Given the description of an element on the screen output the (x, y) to click on. 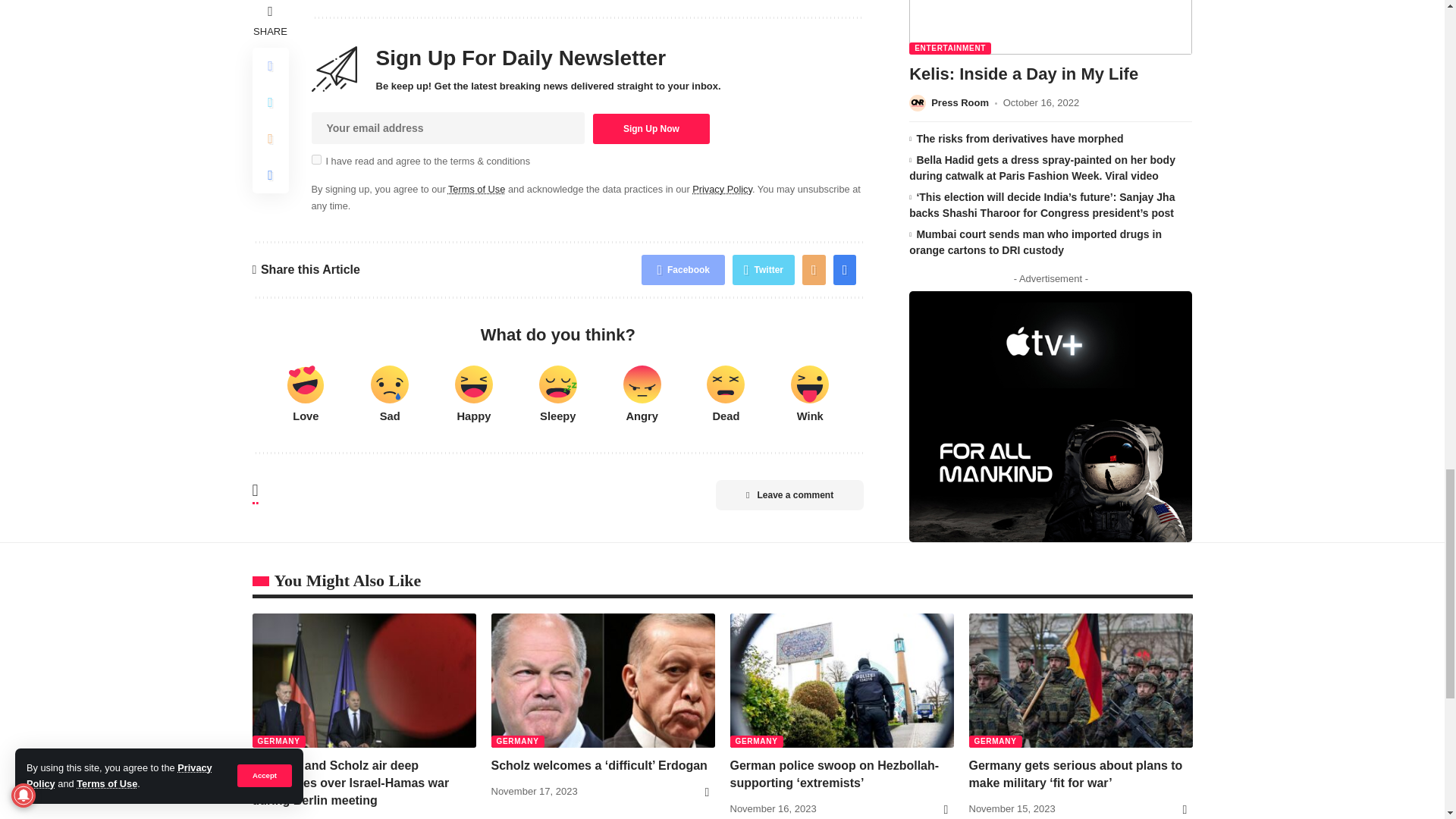
1 (315, 159)
Sign Up Now (651, 128)
